Given the description of an element on the screen output the (x, y) to click on. 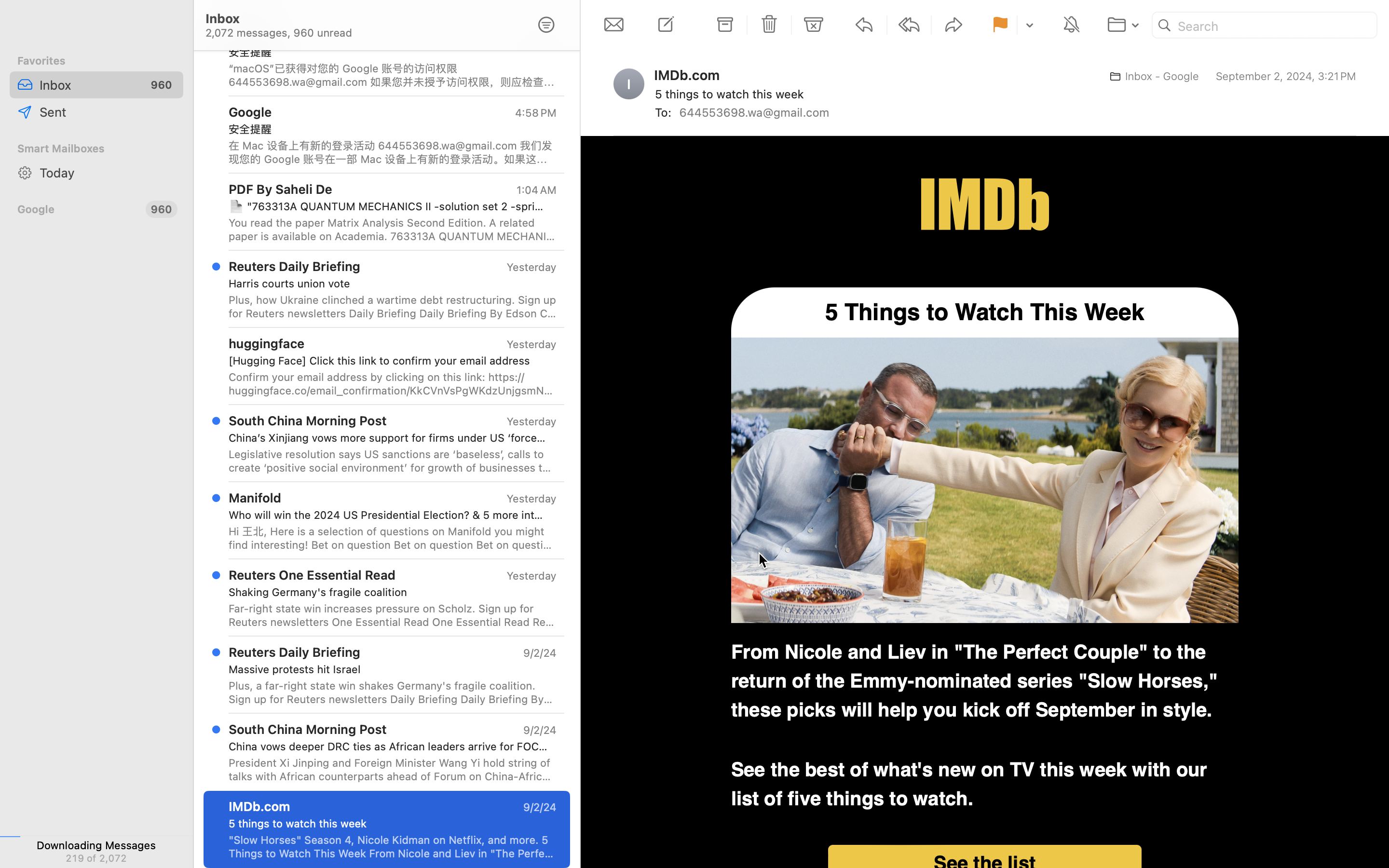
See the best of what's new on TV this week with our list of five things to watch. Element type: AXStaticText (969, 784)
Today Element type: AXTextField (107, 172)
South China Morning Post Element type: AXStaticText (307, 728)
Confirm your email address by clicking on this link: https://huggingface.co/email_confirmation/KkCVnVsPgWKdzUnjgsmNfQwgnwKH If you didn't create a Hugging Face account, you can ignore this email. Hugging Face: The AI community building the future. Element type: AXStaticText (392, 383)
Massive protests hit Israel Element type: AXStaticText (388, 669)
